Given the description of an element on the screen output the (x, y) to click on. 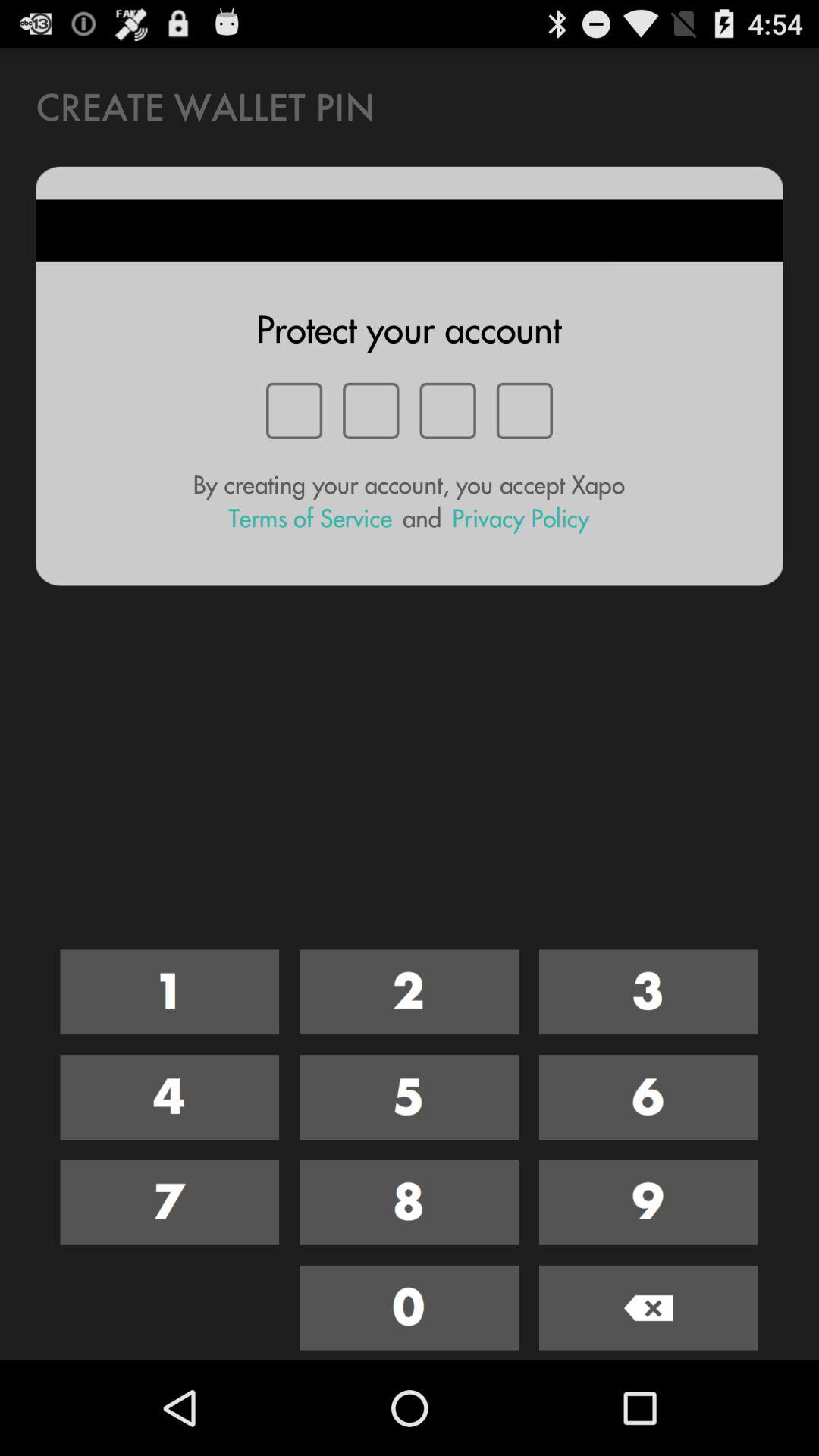
button number 0 (408, 1307)
